Given the description of an element on the screen output the (x, y) to click on. 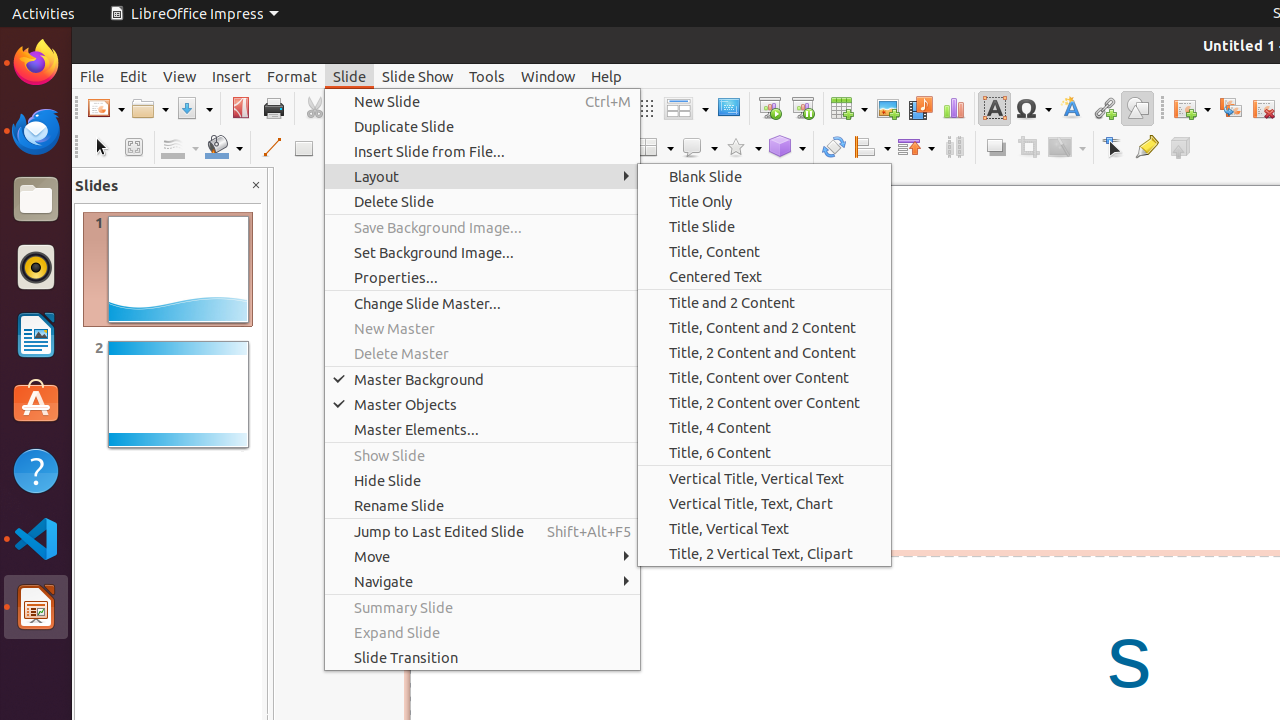
Title and 2 Content Element type: menu-item (764, 302)
LibreOffice Impress Element type: menu (193, 13)
Title, 2 Content over Content Element type: menu-item (764, 402)
Title Slide Element type: menu-item (764, 226)
